Given the description of an element on the screen output the (x, y) to click on. 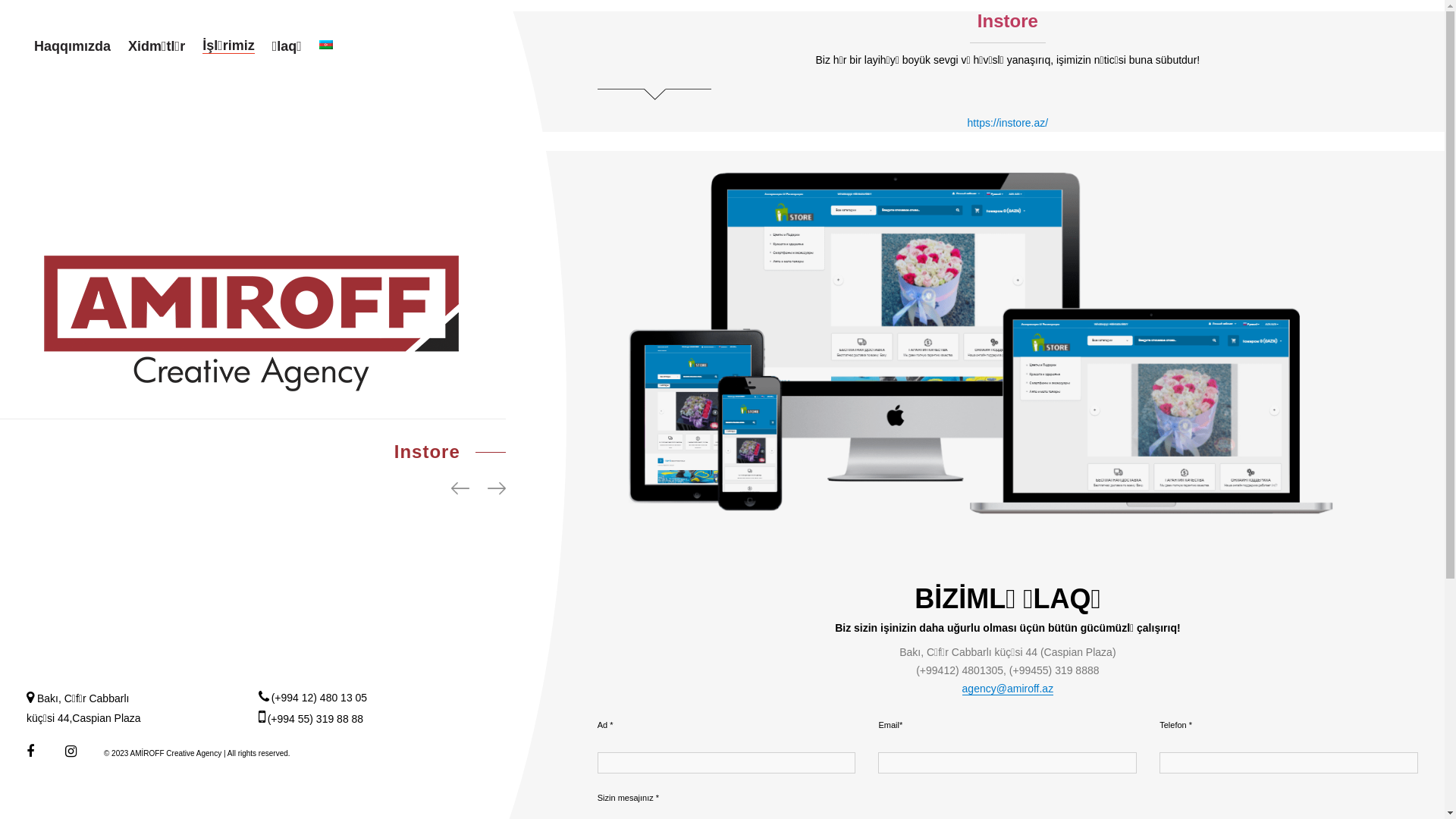
agency@amiroff.az Element type: text (1008, 688)
https://instore.az/ Element type: text (1007, 122)
